Given the description of an element on the screen output the (x, y) to click on. 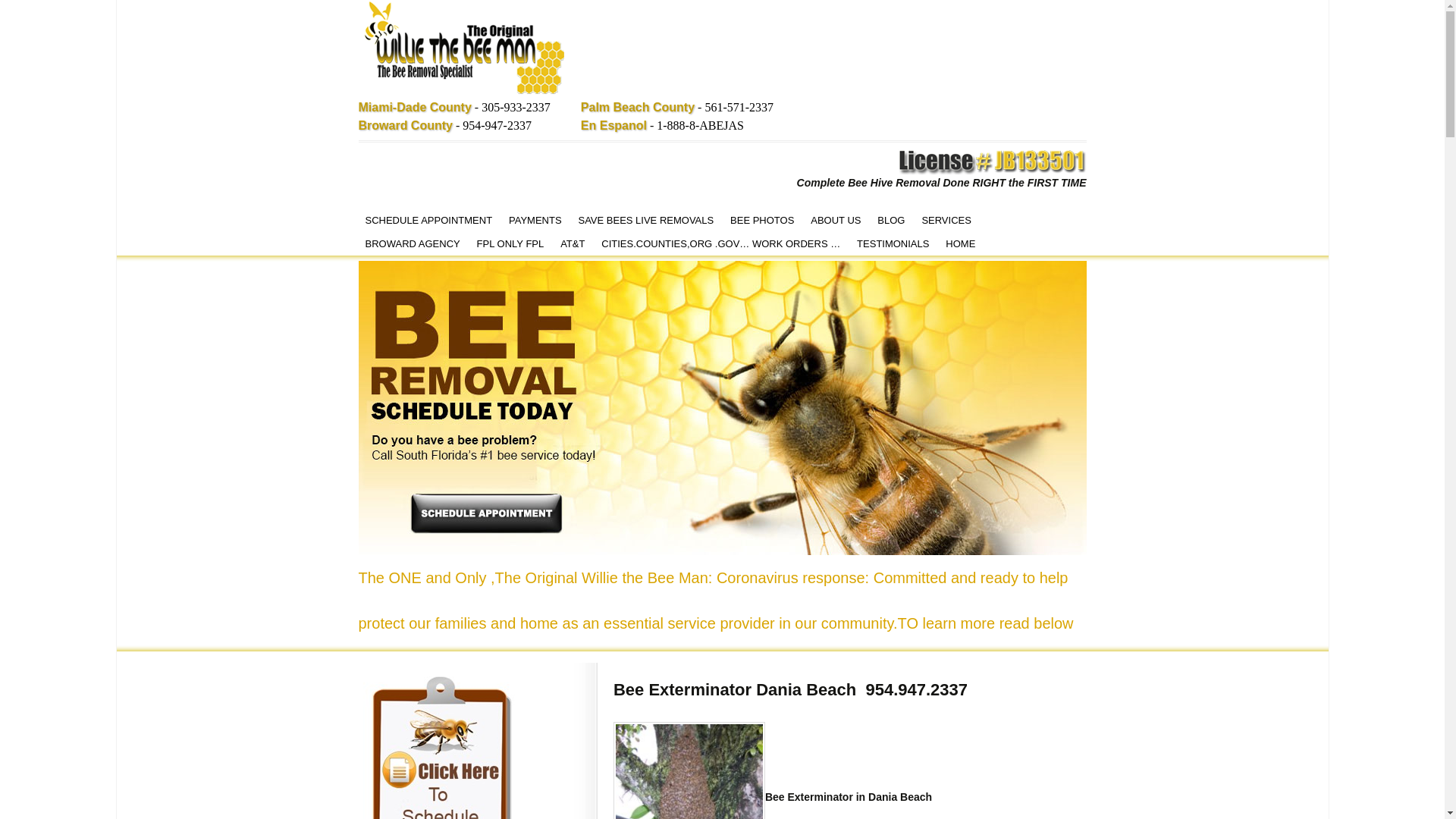
305-933-2337 (515, 106)
PAYMENTS (535, 219)
BROWARD AGENCY (411, 243)
SERVICES (946, 219)
BEE PHOTOS (761, 219)
SAVE BEES LIVE REMOVALS (645, 219)
Home (464, 48)
ABOUT US (835, 219)
561-571-2337 (738, 106)
